Given the description of an element on the screen output the (x, y) to click on. 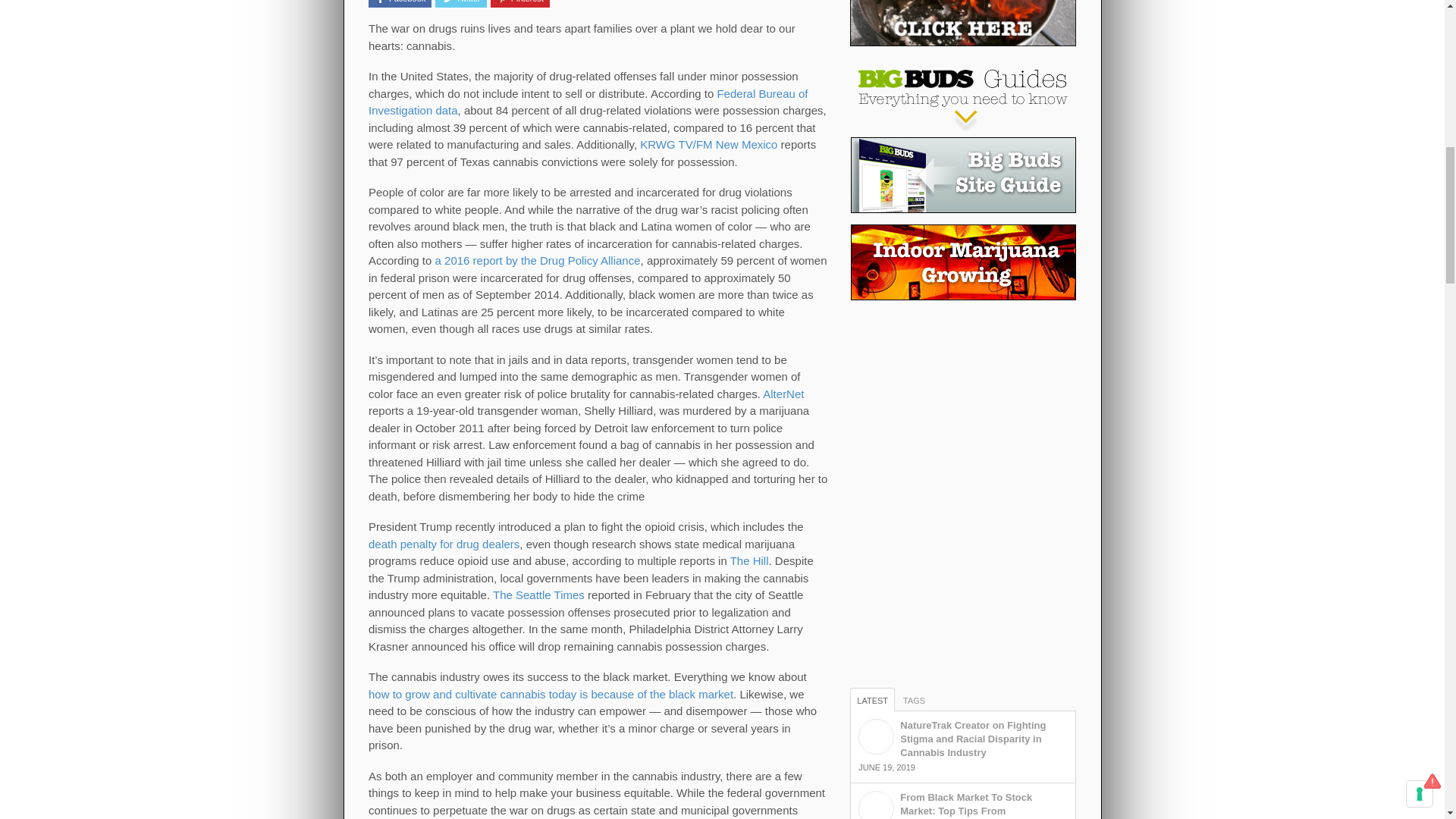
Federal Bureau of Investigation data (588, 101)
The Seattle Times (539, 594)
a 2016 report by the Drug Policy Alliance (537, 259)
Twitter (460, 3)
Facebook (399, 3)
The Hill (749, 560)
AlterNet (782, 393)
death penalty for drug dealers (443, 543)
Pinterest (520, 3)
